Given the description of an element on the screen output the (x, y) to click on. 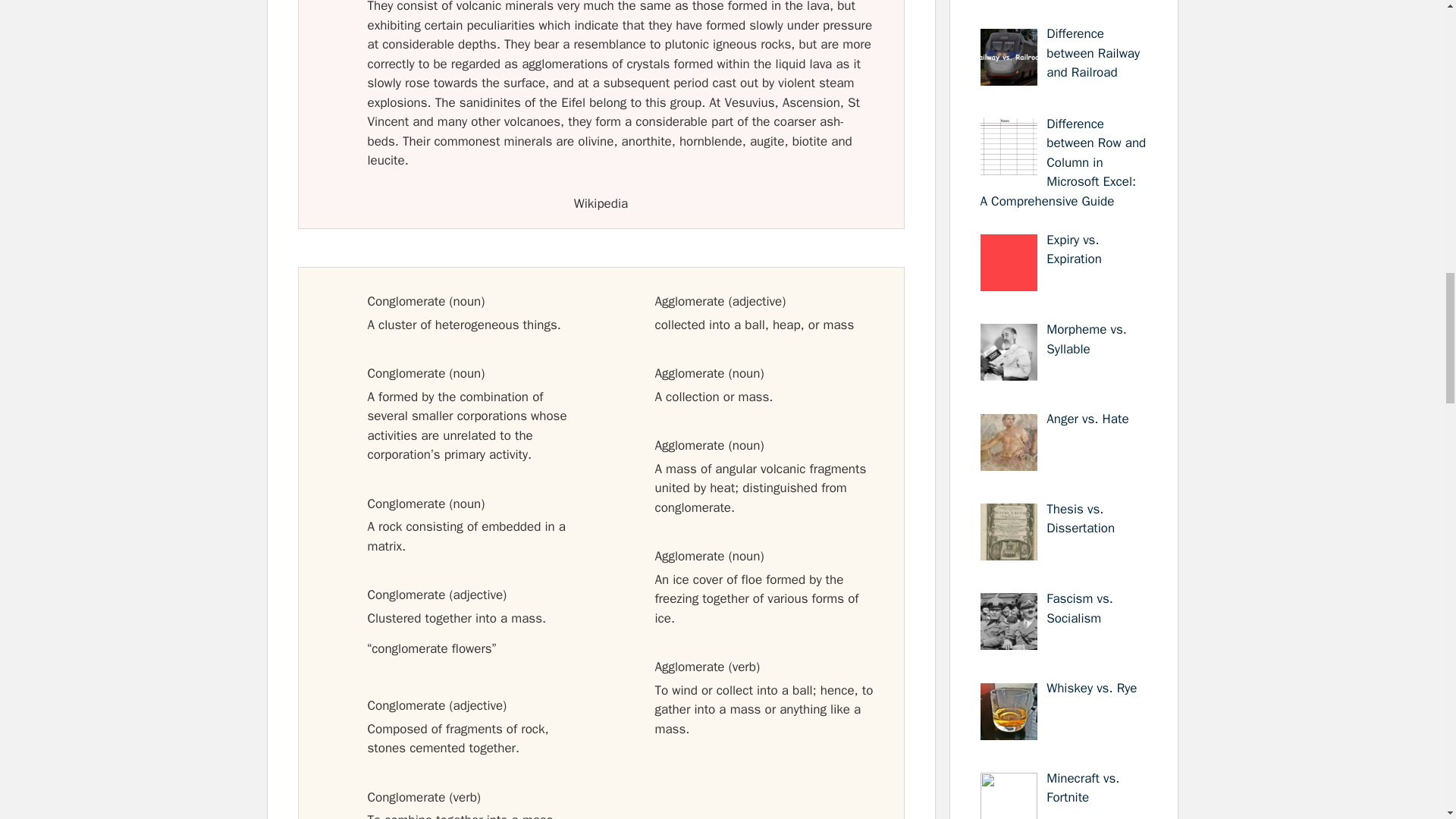
Anger vs. Hate (1087, 418)
Whiskey vs. Rye (1091, 688)
Morpheme vs. Syllable (1086, 339)
Expiry vs. Expiration (1074, 249)
Minecraft vs. Fortnite (1082, 787)
Difference between Railway and Railroad (1093, 52)
Thesis vs. Dissertation (1080, 519)
Difference Between Autonomous and Accommodating Items (1060, 1)
Fascism vs. Socialism (1079, 608)
